Given the description of an element on the screen output the (x, y) to click on. 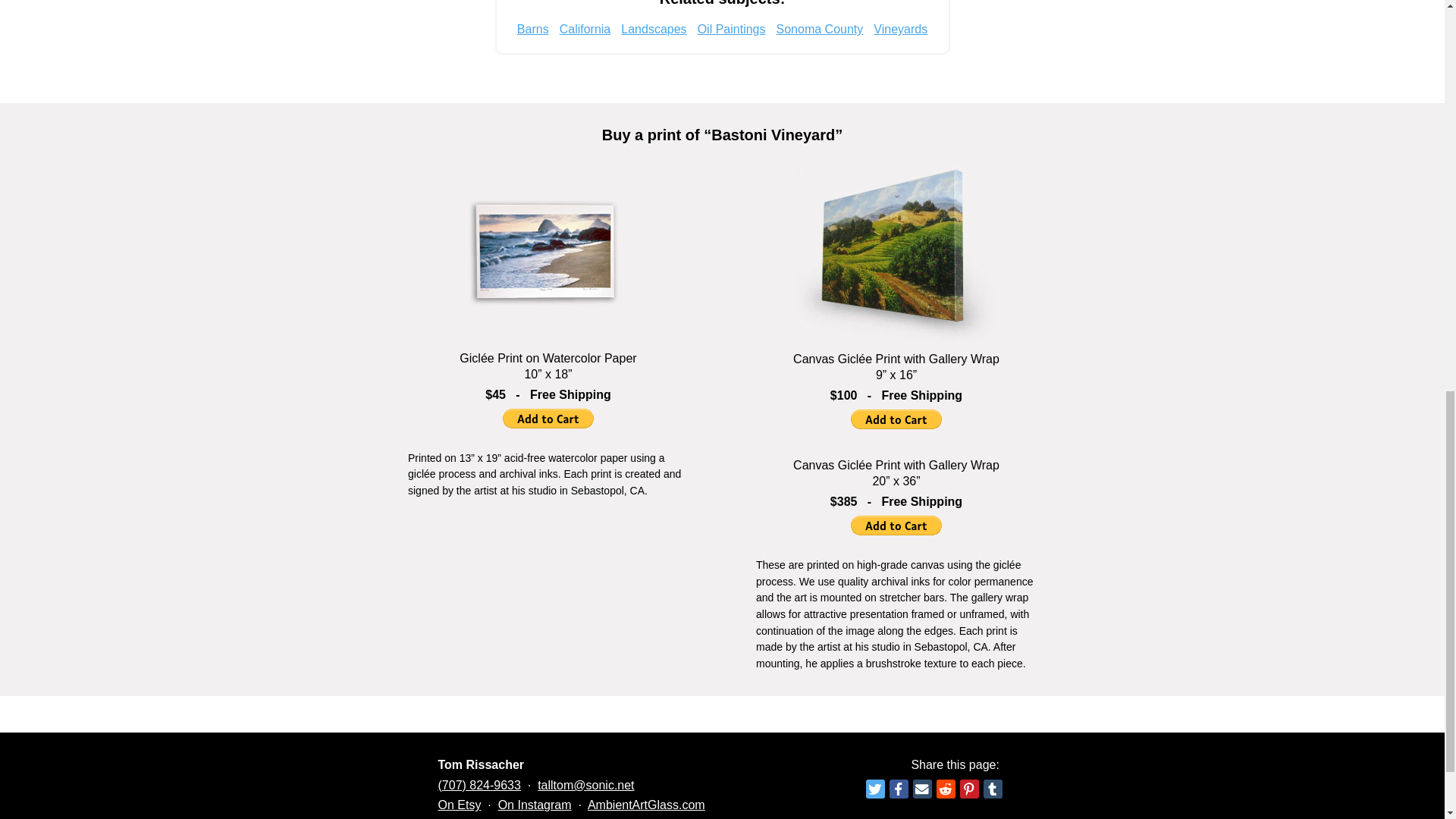
Share on Twitter (875, 788)
Add to Cart (896, 525)
Share on Reddit (945, 788)
Add to Cart (548, 418)
Add to Cart (896, 419)
Barns (532, 29)
Oil Paintings (731, 29)
Share via email (921, 788)
Landscapes (653, 29)
AmbientArtGlass.com (646, 804)
Vineyards (900, 29)
On Instagram (534, 804)
Sonoma County (819, 29)
On Etsy (459, 804)
Share on Tumblr (991, 788)
